Given the description of an element on the screen output the (x, y) to click on. 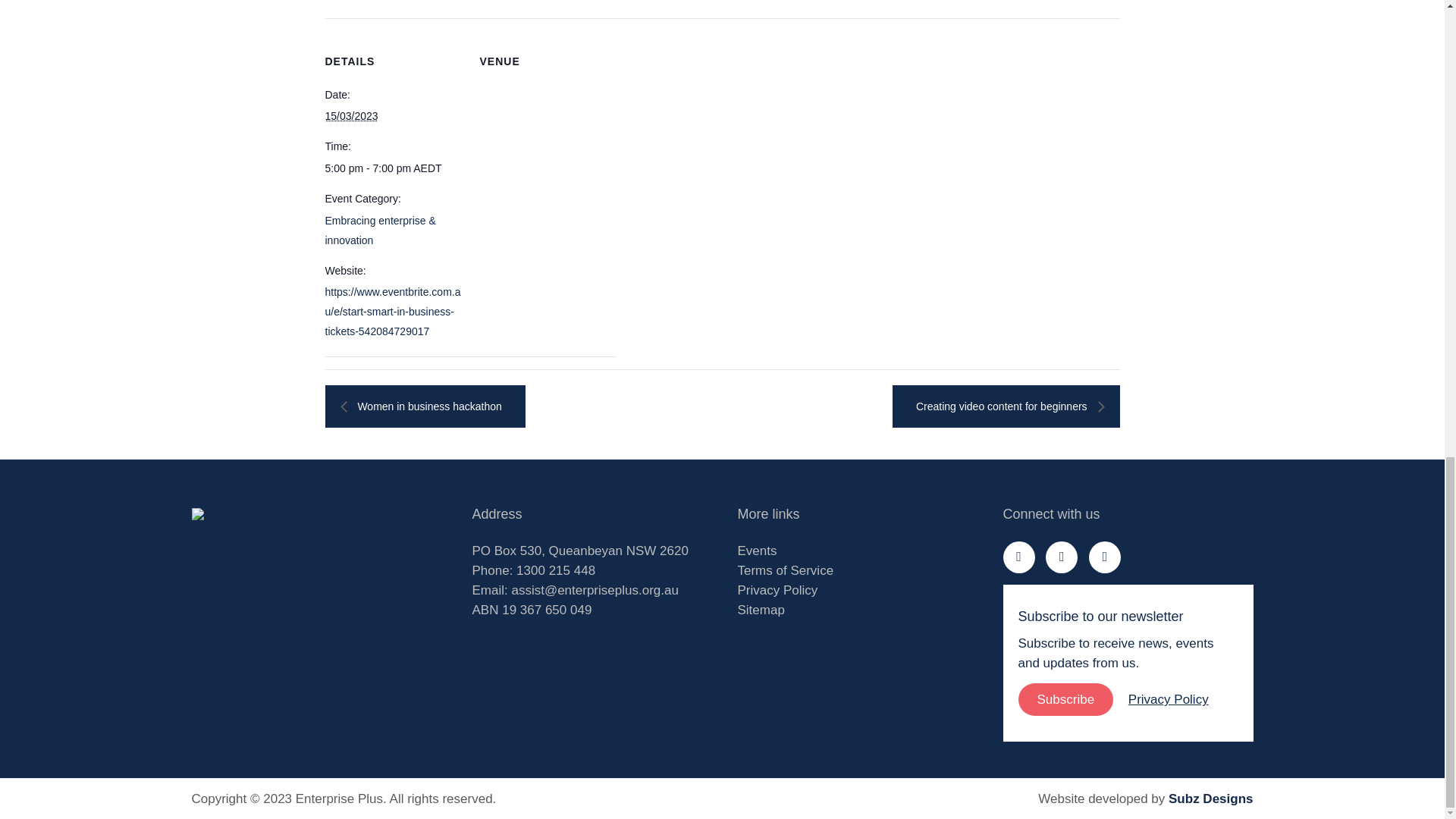
2023-03-15 (350, 115)
Web Design Canberra (1210, 798)
2023-03-15 (392, 168)
